Given the description of an element on the screen output the (x, y) to click on. 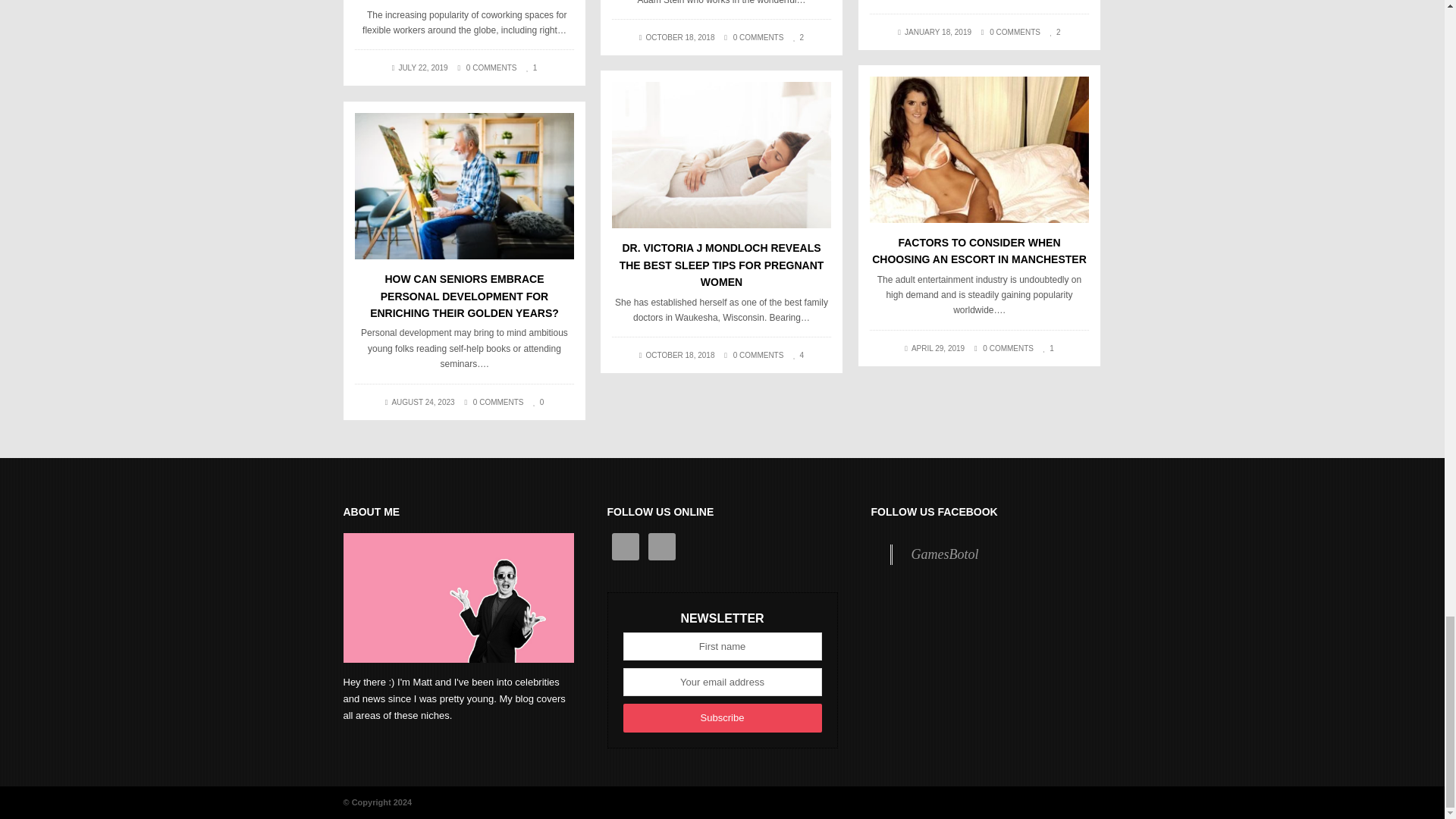
First name (722, 646)
Your email address (722, 682)
